Given the description of an element on the screen output the (x, y) to click on. 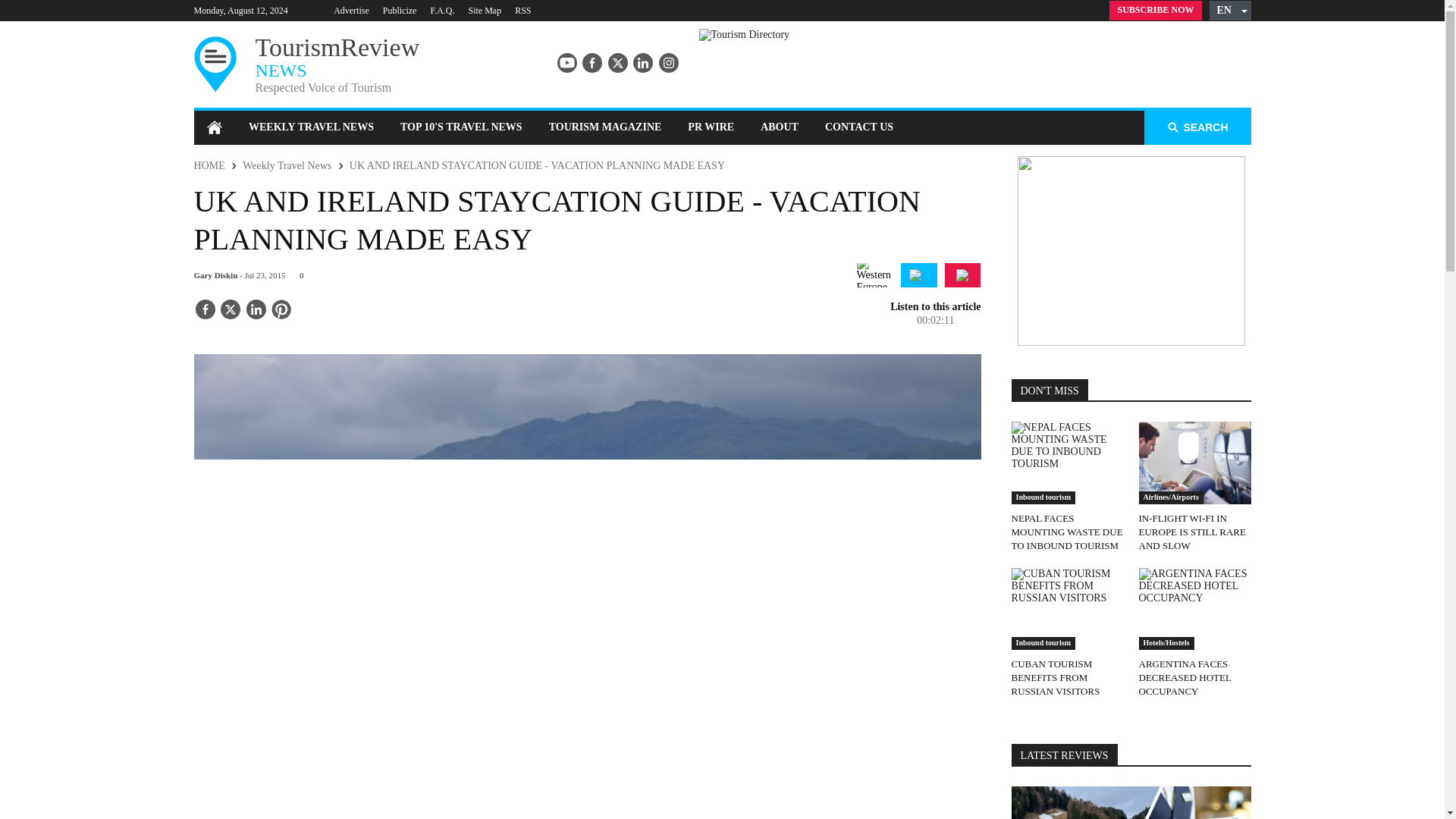
TOURISM MAGAZINE (605, 127)
TOP 10'S TRAVEL NEWS (461, 127)
Advertise (351, 9)
Publicize (399, 9)
PR WIRE (711, 127)
Weekly Travel News (287, 165)
SEARCH (1197, 126)
SUBSCRIBE NOW (1155, 10)
ABOUT (780, 127)
